Given the description of an element on the screen output the (x, y) to click on. 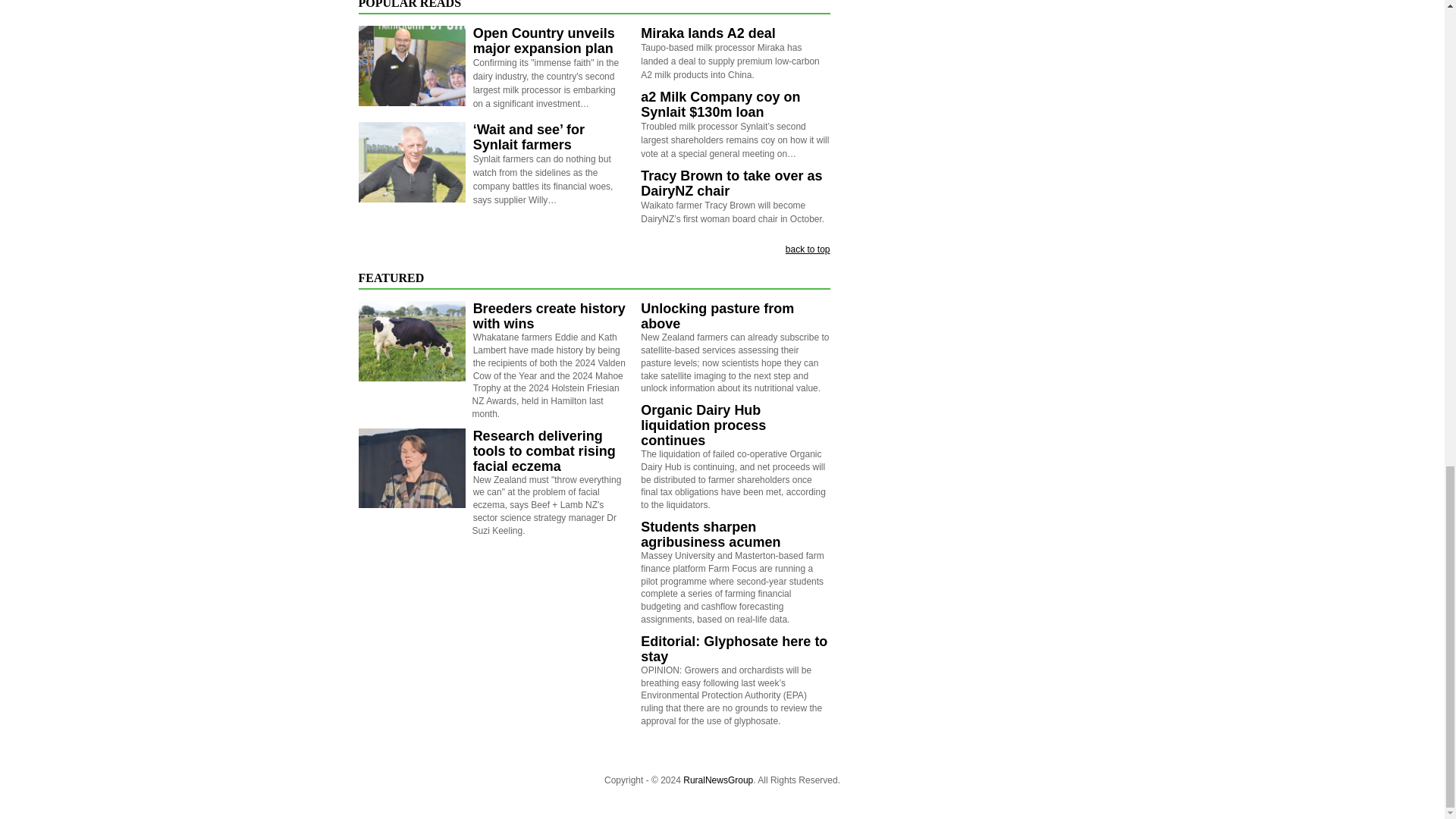
POPULAR READS (409, 4)
Continue reading "Breeders create history with wins" (411, 341)
Continue reading "Open Country unveils major expansion plan" (411, 65)
Miraka lands A2 deal (707, 32)
Open Country unveils major expansion plan (543, 40)
